Given the description of an element on the screen output the (x, y) to click on. 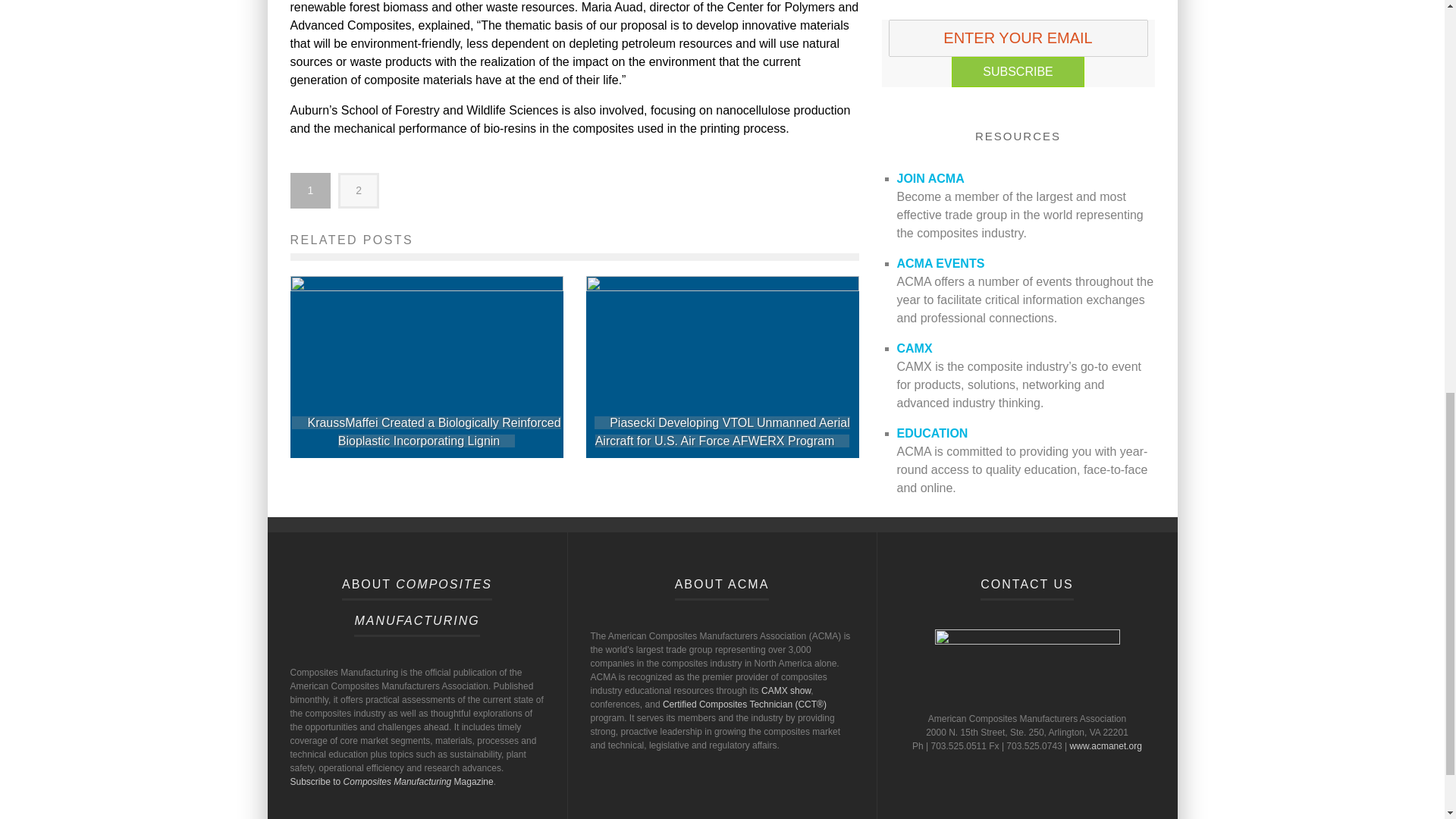
Subscribe (1017, 71)
Enter Your Email (1018, 37)
